Given the description of an element on the screen output the (x, y) to click on. 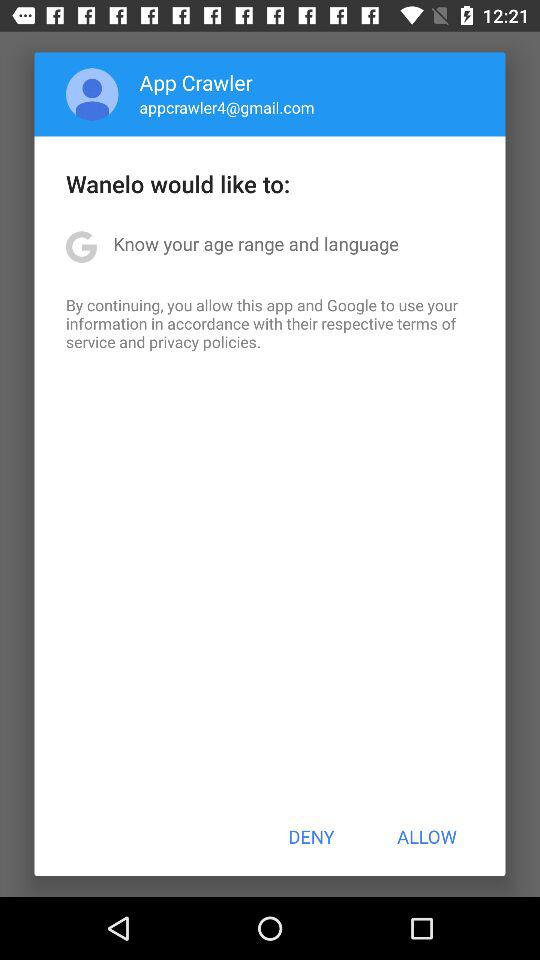
swipe until the app crawler icon (195, 82)
